Given the description of an element on the screen output the (x, y) to click on. 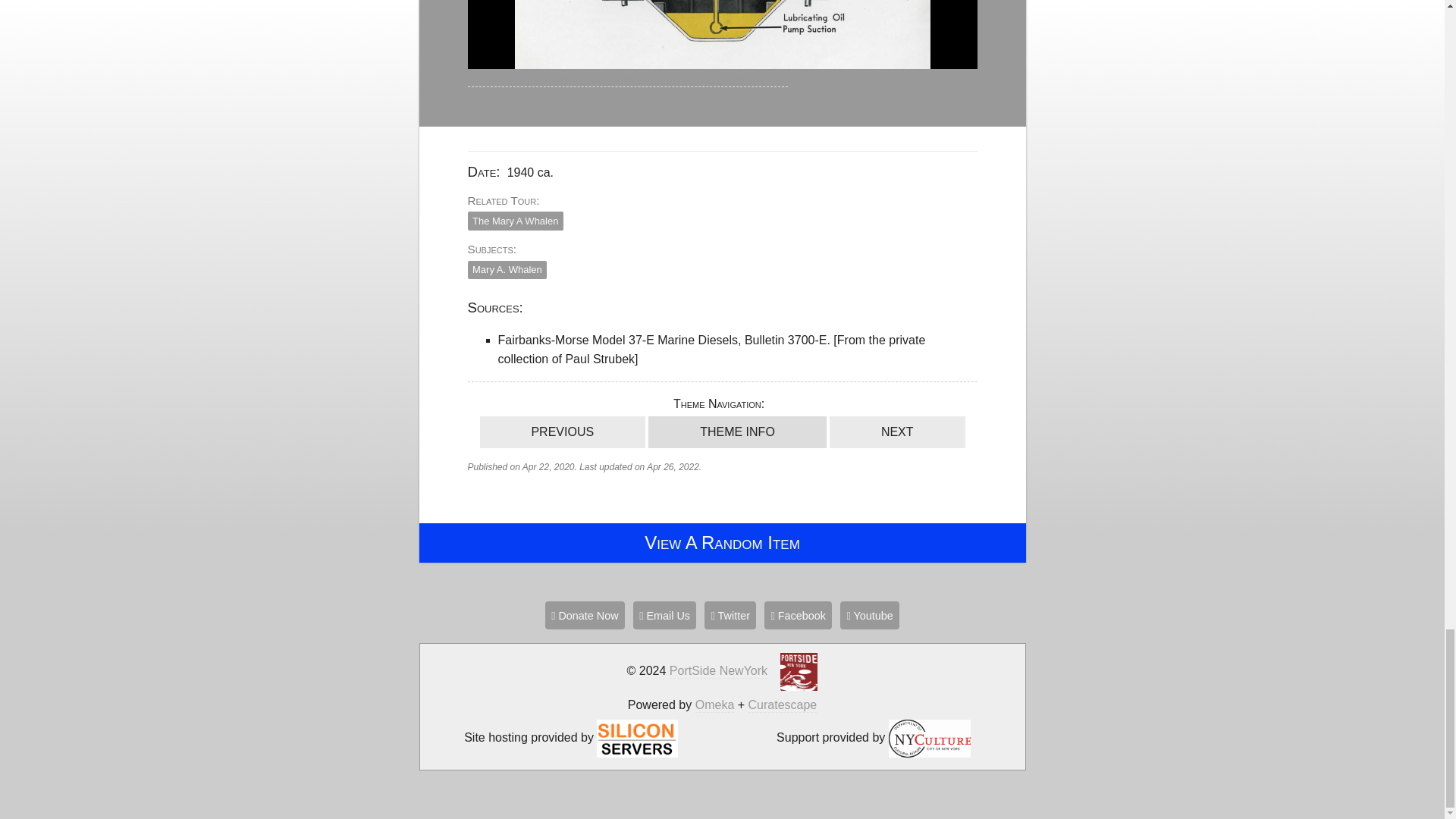
View Theme: The Mary A Whalen (737, 431)
Next stop on Theme (897, 431)
Previous stop on Theme (562, 431)
